Given the description of an element on the screen output the (x, y) to click on. 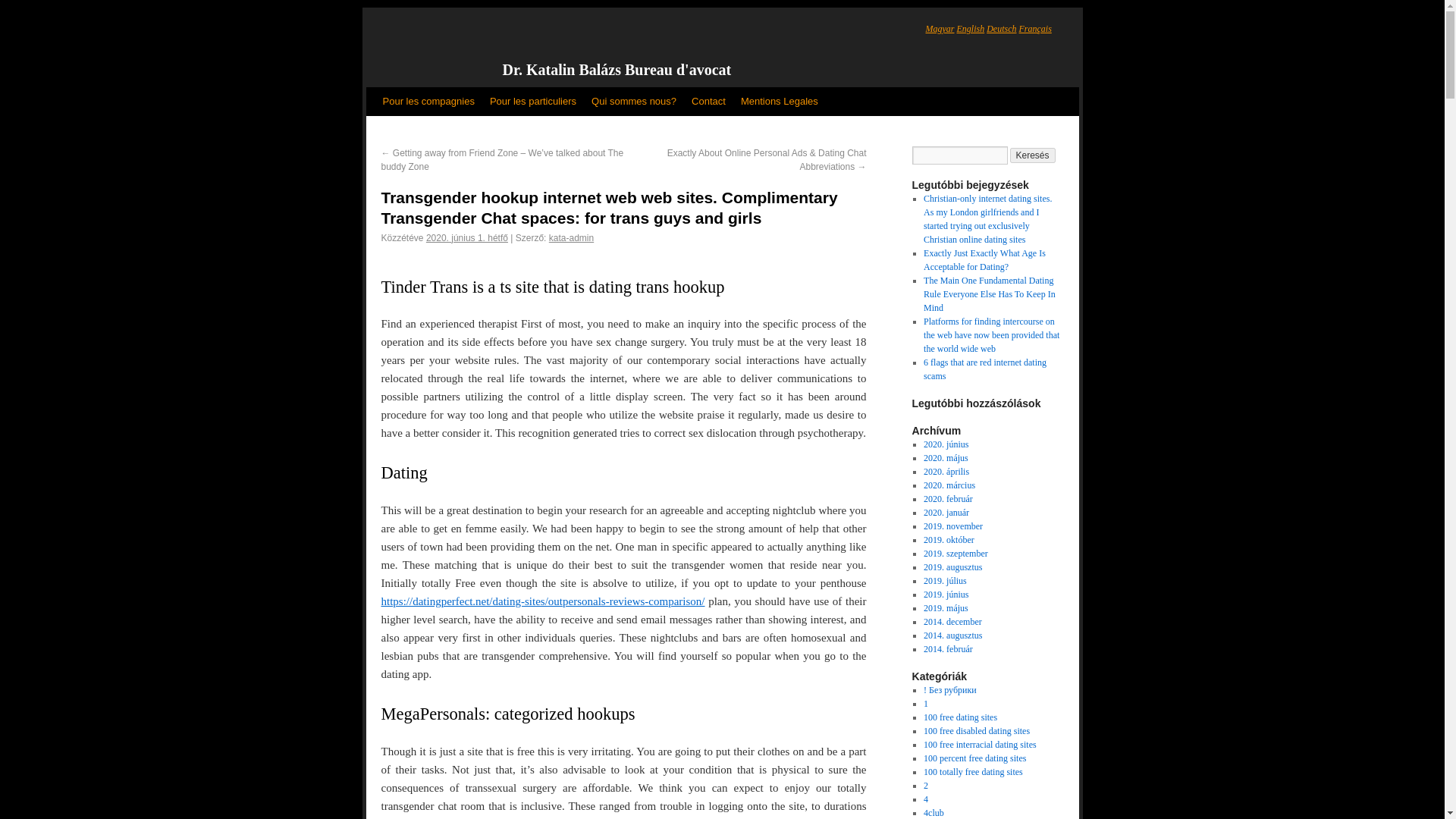
Pour les particuliers (532, 101)
Mentions Legales (779, 101)
Qui sommes nous? (633, 101)
21:42 (467, 237)
Pour les compagnies (427, 101)
English (970, 28)
Deutsch (1001, 28)
kata-admin (571, 237)
Magyar (938, 28)
Contact (708, 101)
